Given the description of an element on the screen output the (x, y) to click on. 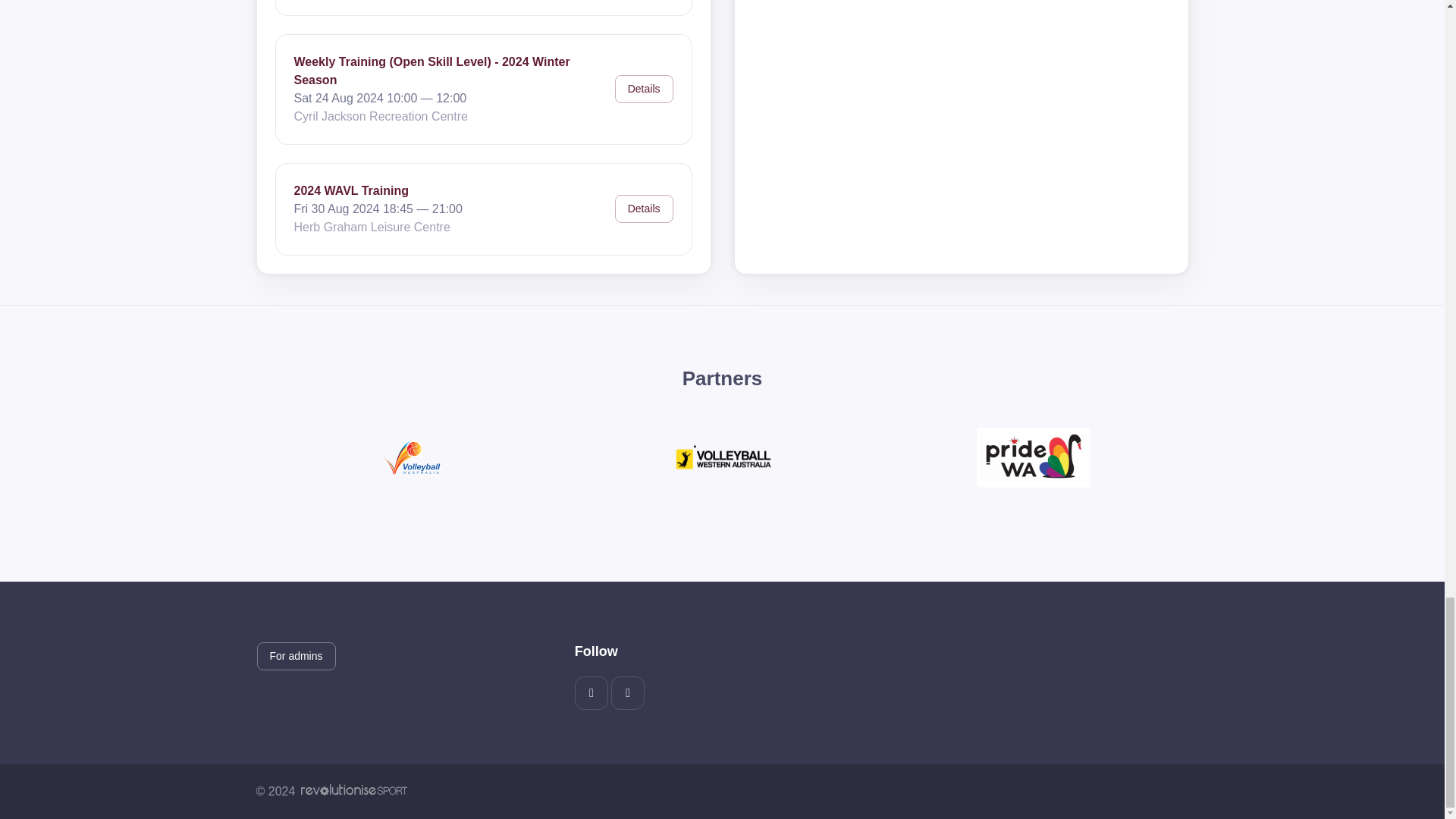
Pride WA (1033, 457)
Volleyball Australia (411, 457)
Volleyball WA (721, 457)
